Given the description of an element on the screen output the (x, y) to click on. 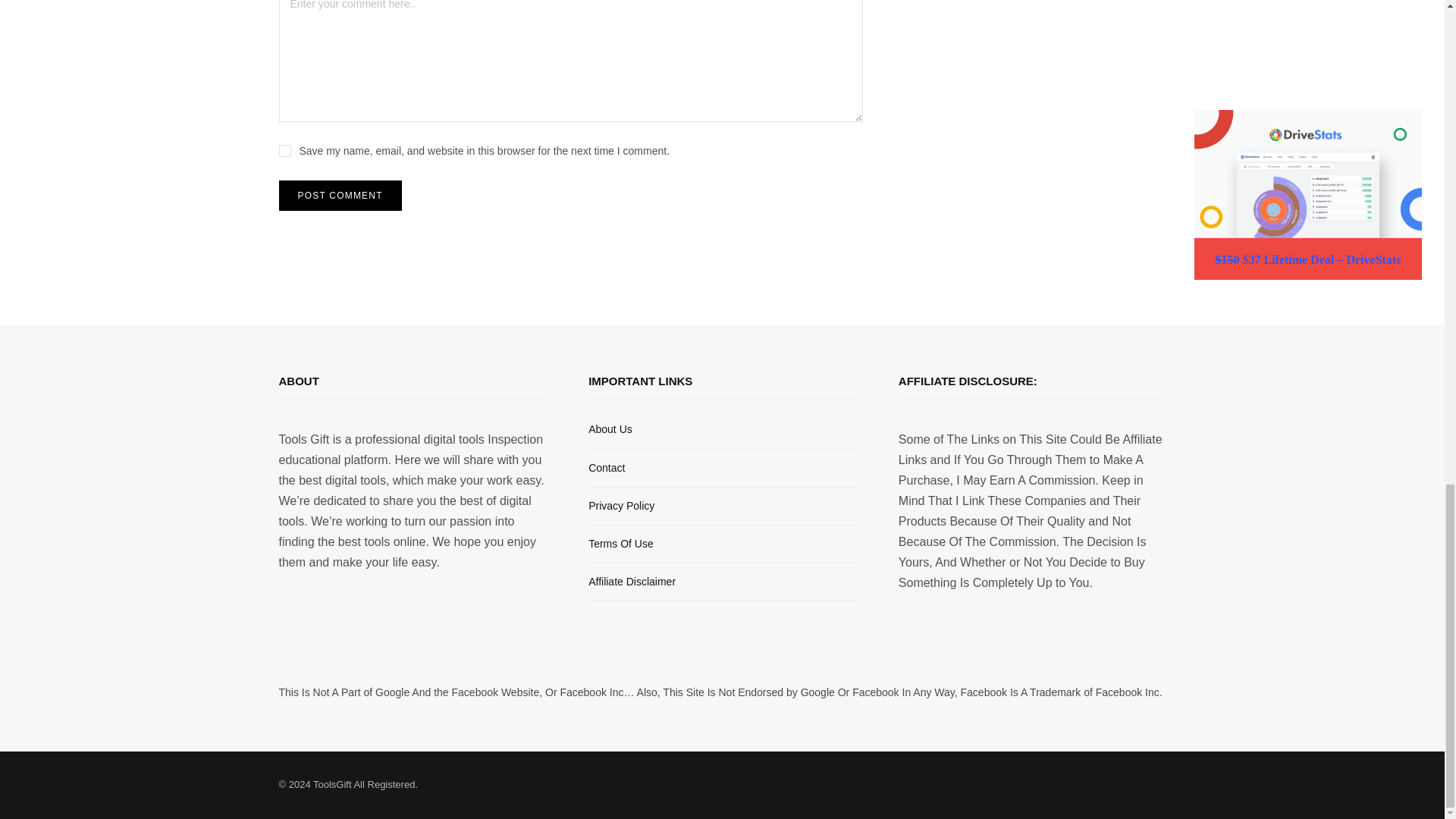
yes (285, 150)
Post Comment (340, 195)
About Us (609, 428)
Post Comment (340, 195)
Contact (606, 467)
Terms Of Use (620, 543)
Privacy Policy (620, 505)
Affiliate Disclaimer (631, 581)
